Given the description of an element on the screen output the (x, y) to click on. 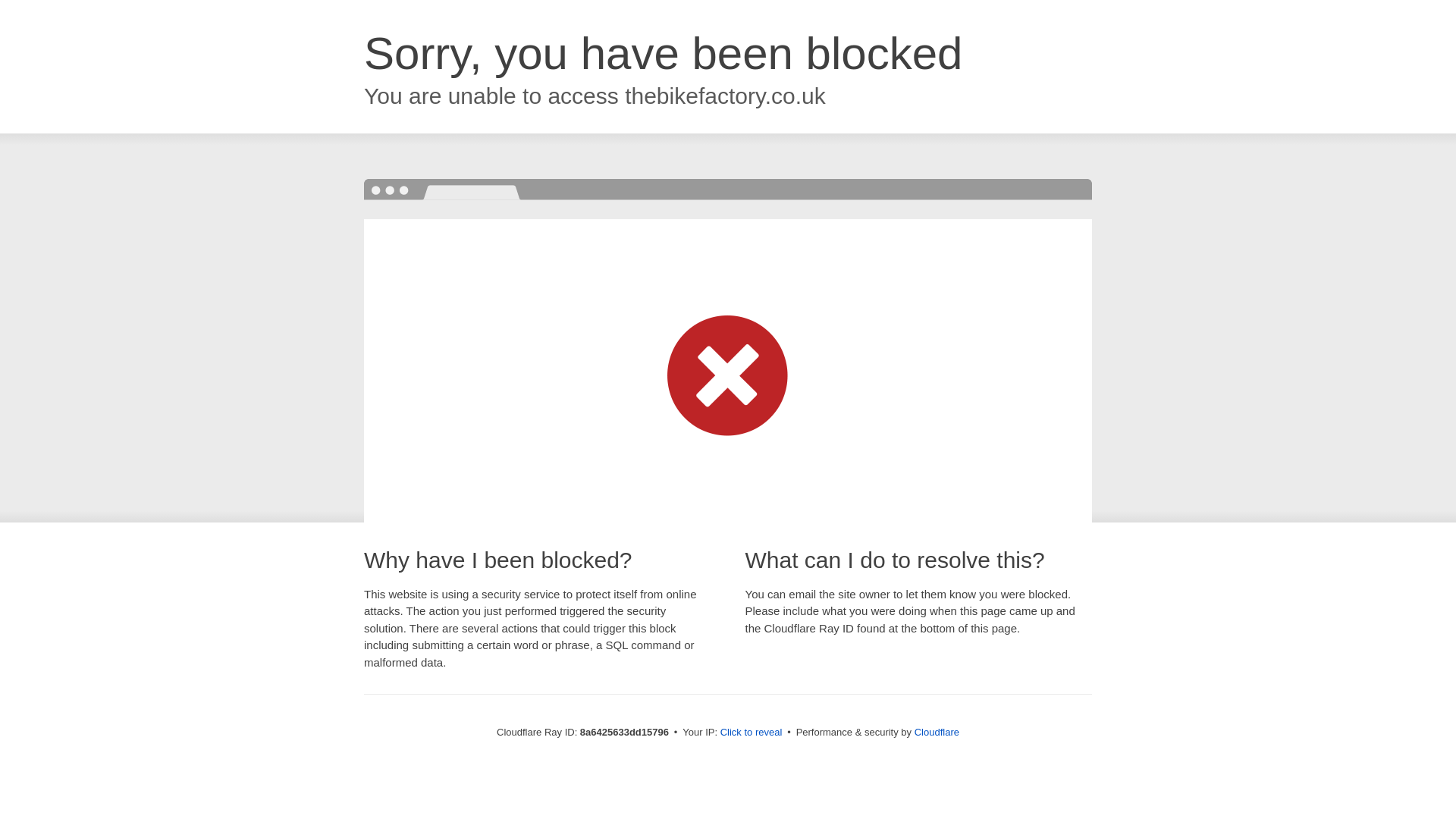
Click to reveal (751, 732)
Cloudflare (936, 731)
